Given the description of an element on the screen output the (x, y) to click on. 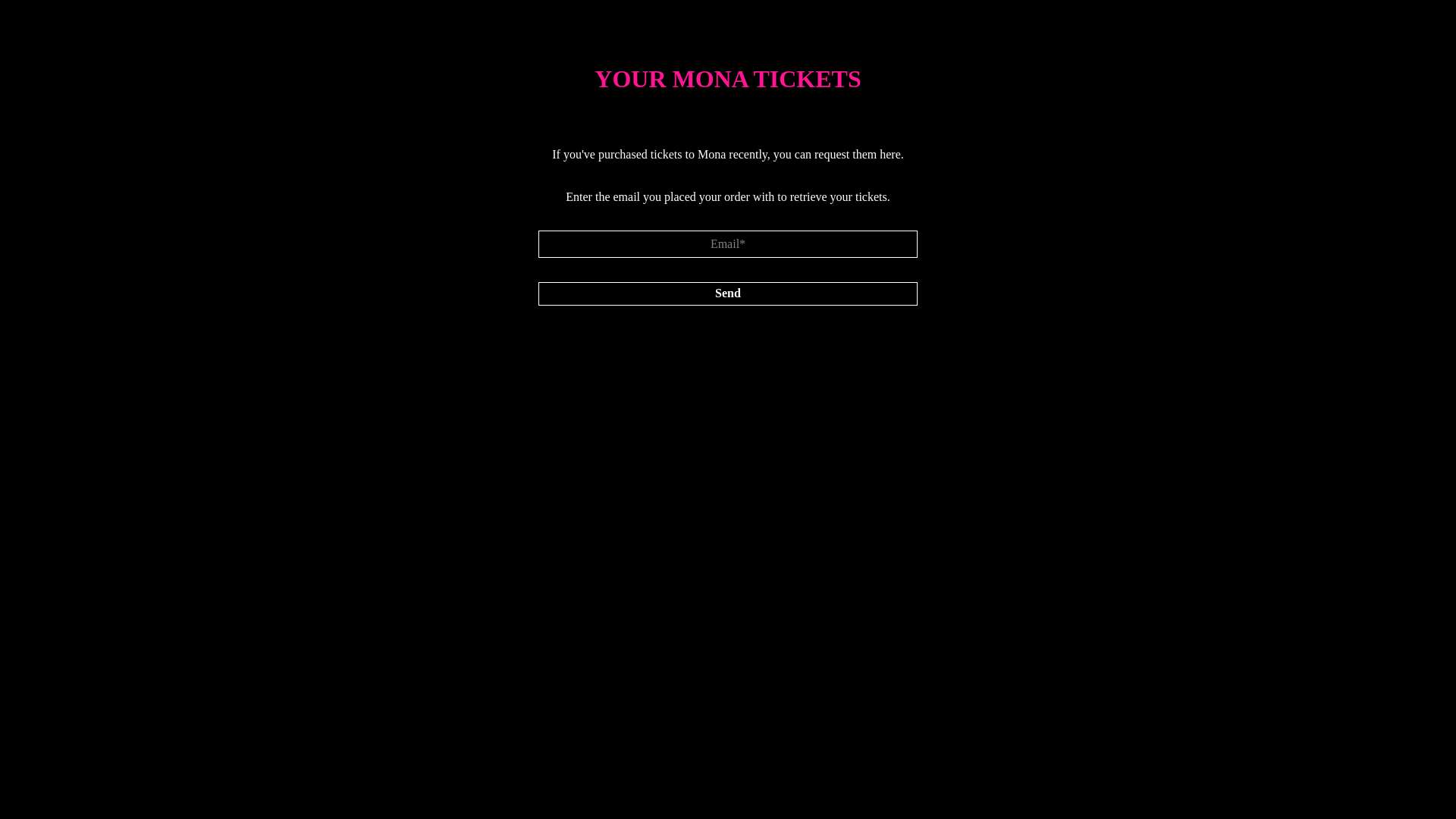
Send Element type: text (727, 293)
